Given the description of an element on the screen output the (x, y) to click on. 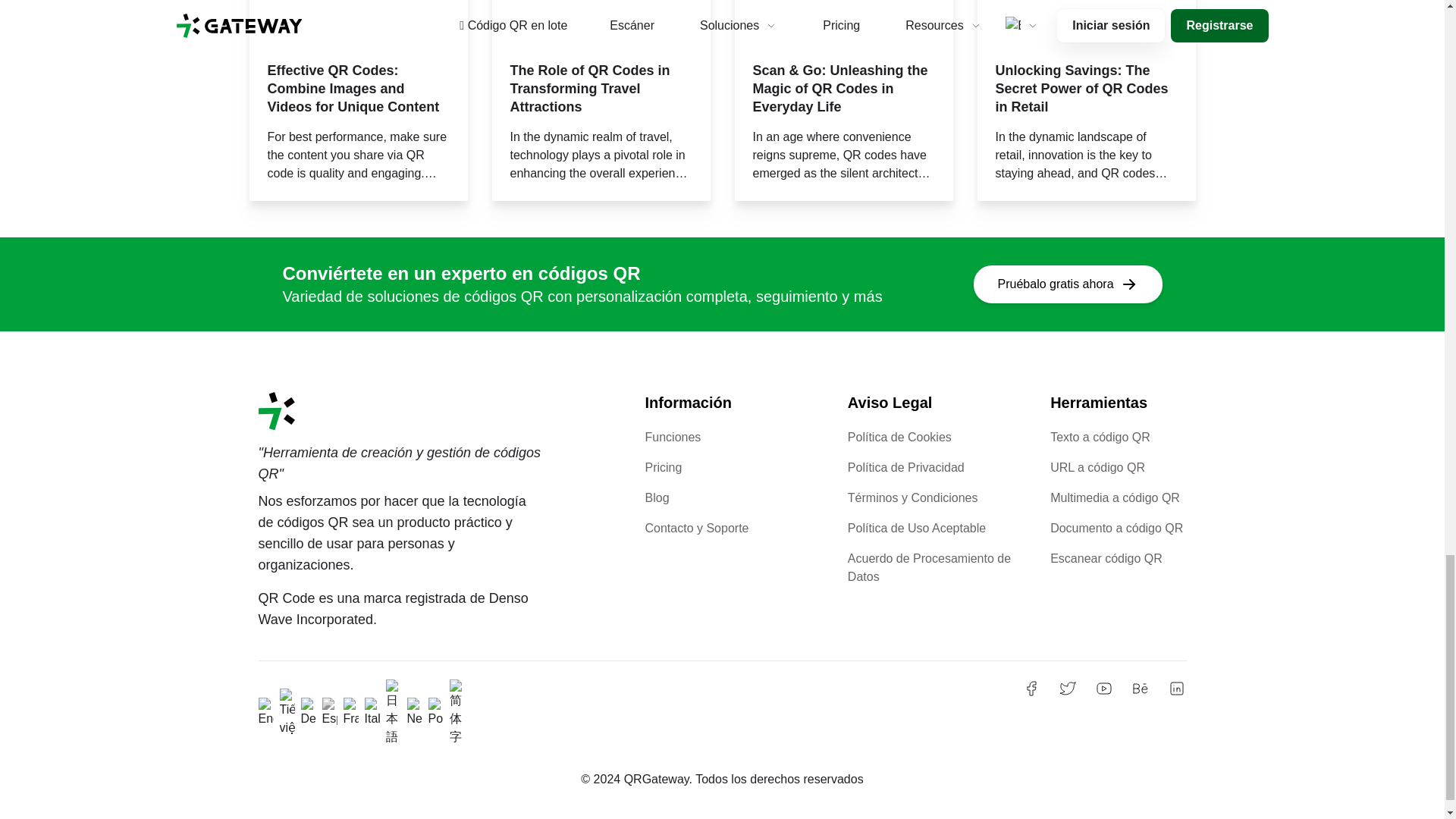
Funciones (672, 436)
Pricing (663, 467)
Blog (656, 497)
Contacto y Soporte (696, 527)
Unlocking Savings: The Secret Power of QR Codes in Retail (1085, 88)
The Role of QR Codes in Transforming Travel Attractions (600, 88)
